Given the description of an element on the screen output the (x, y) to click on. 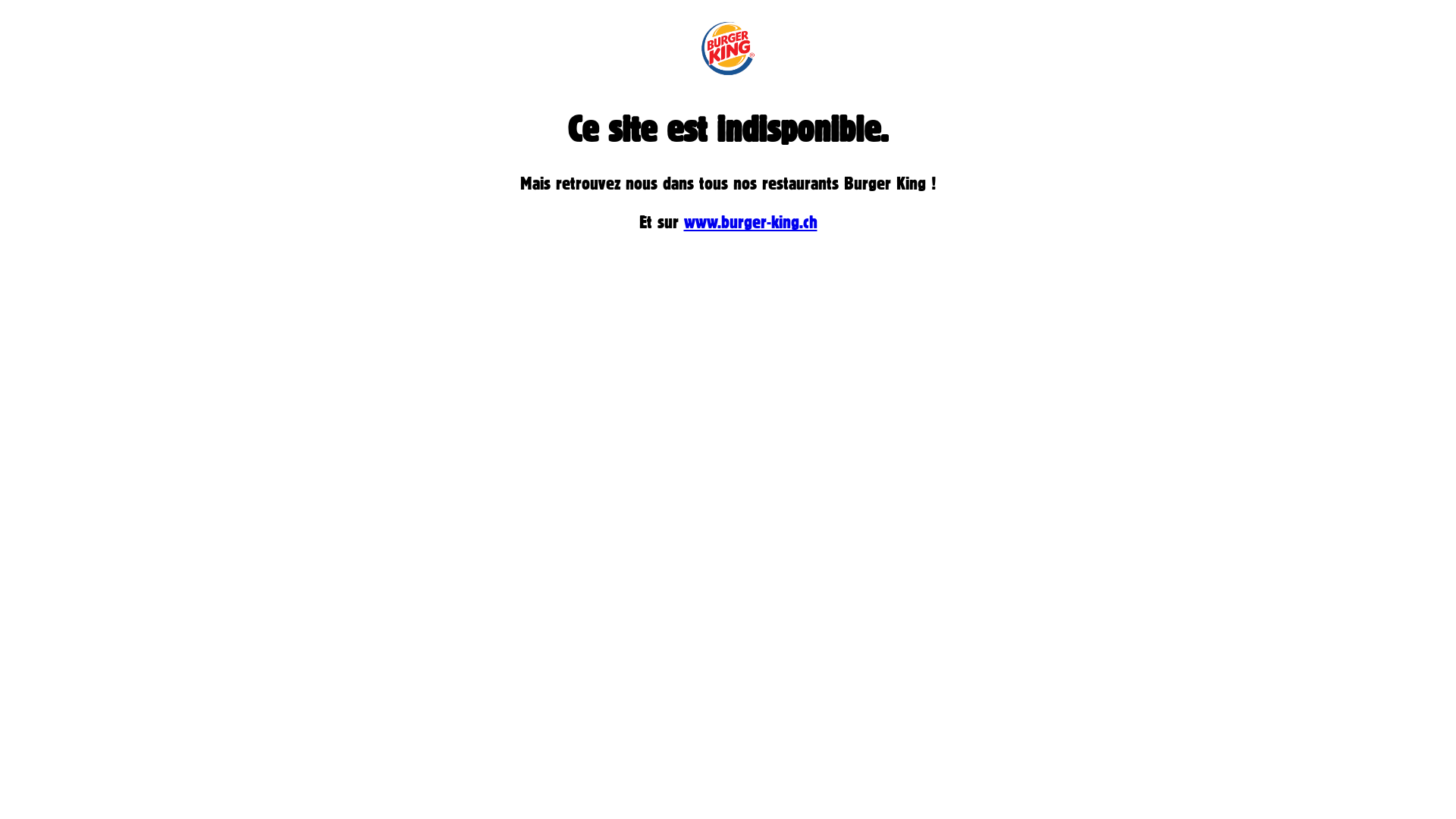
www.burger-king.ch Element type: text (750, 221)
